Given the description of an element on the screen output the (x, y) to click on. 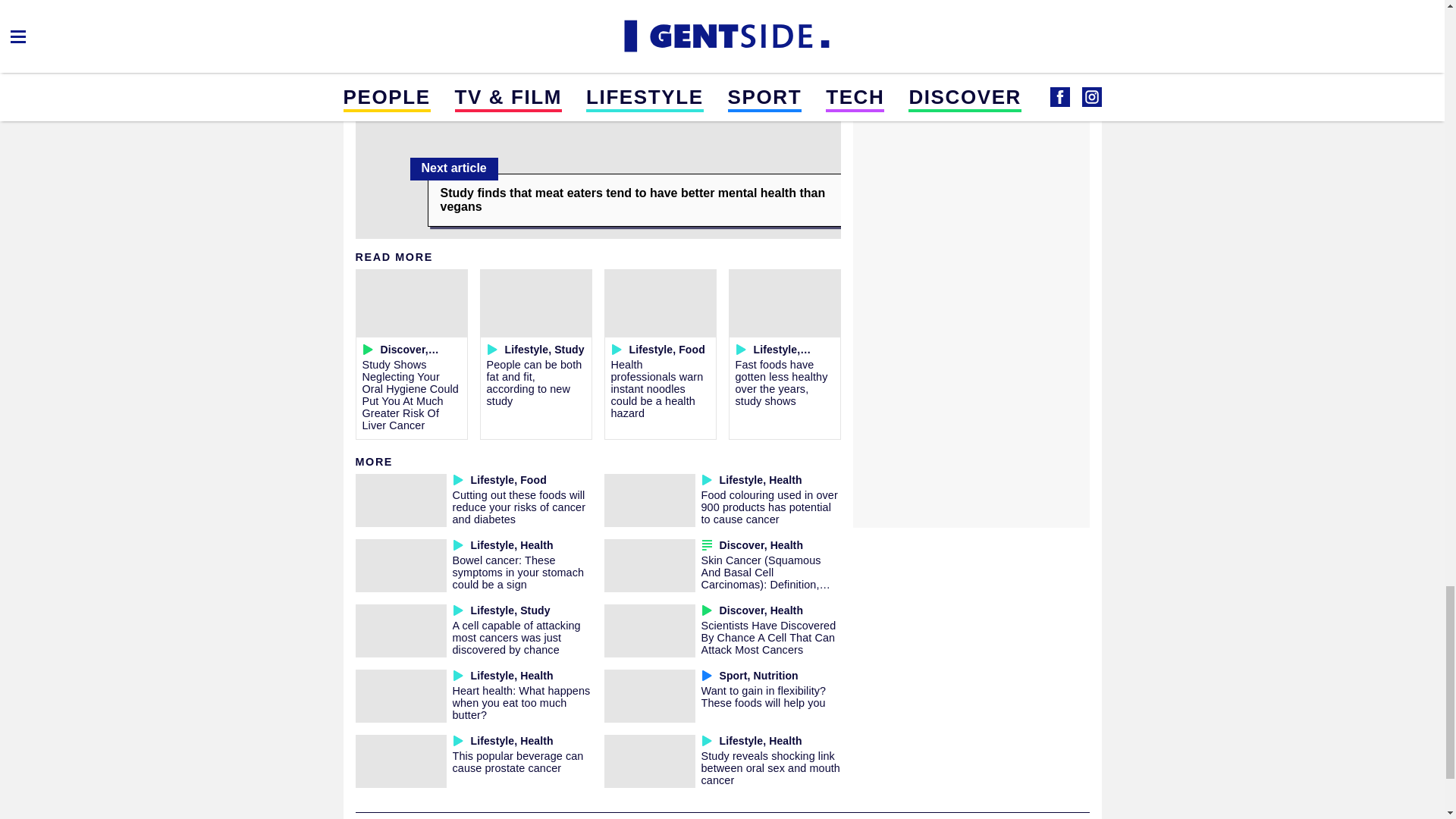
Bowel cancer: These symptoms in your stomach could be a sign (517, 572)
People can be both fat and fit, according to new study (534, 382)
